Given the description of an element on the screen output the (x, y) to click on. 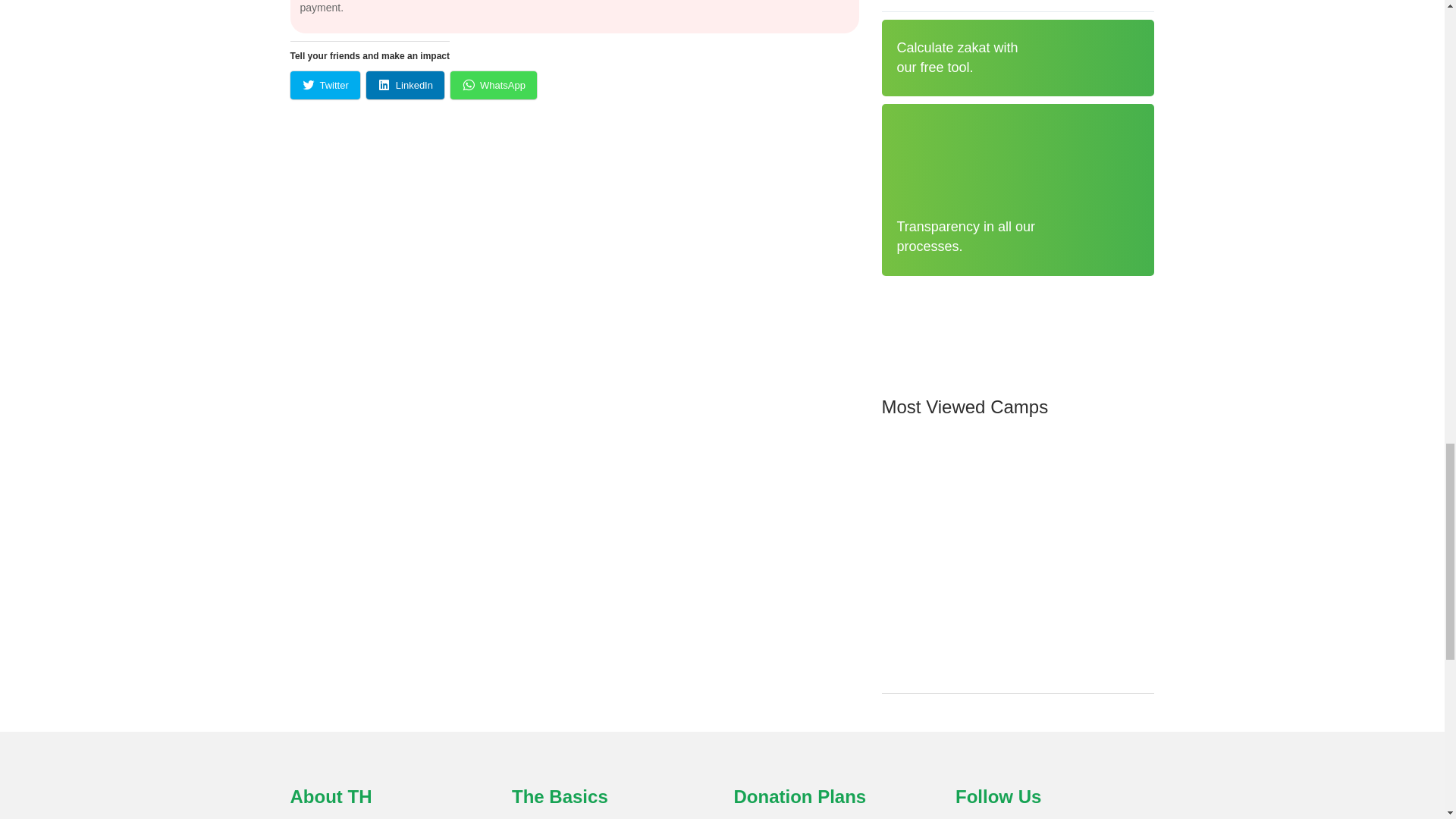
WhatsApp (493, 85)
Click to share on LinkedIn (405, 85)
Twitter (324, 85)
LinkedIn (405, 85)
Click to share on Twitter (324, 85)
Click to share on WhatsApp (493, 85)
